Given the description of an element on the screen output the (x, y) to click on. 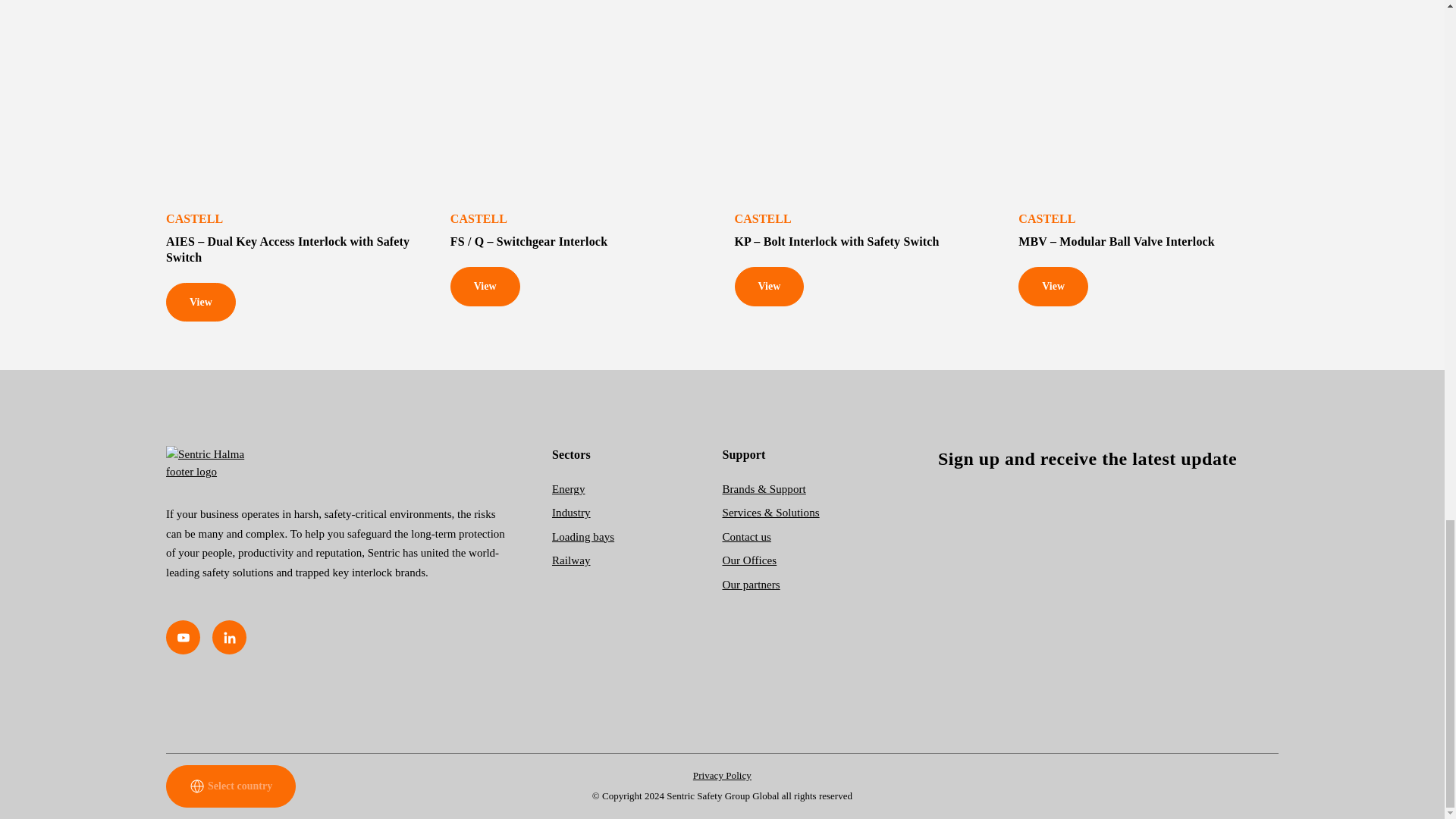
Policy (722, 775)
youtube (182, 636)
Sentric Safety Group Global (335, 462)
linkedin (229, 636)
